Given the description of an element on the screen output the (x, y) to click on. 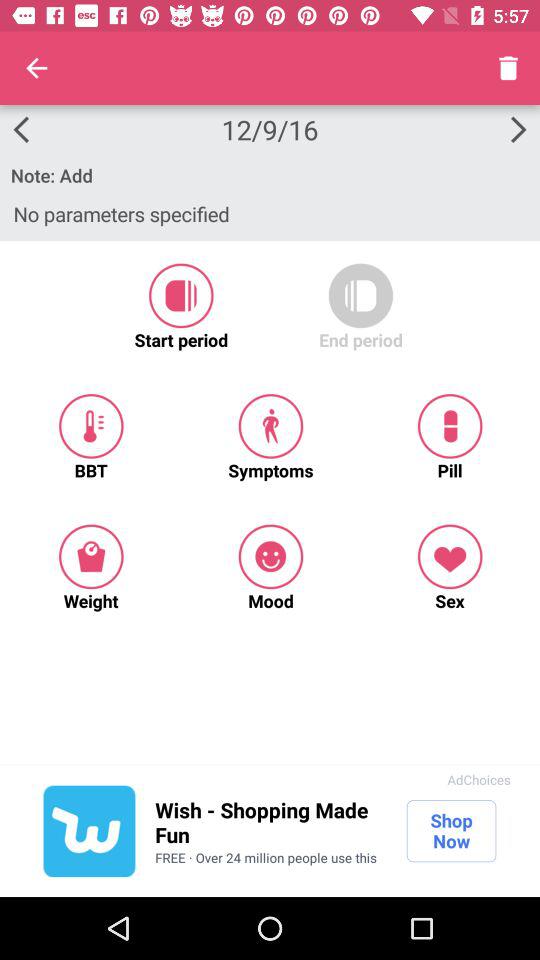
swipe to wish shopping made (270, 821)
